Given the description of an element on the screen output the (x, y) to click on. 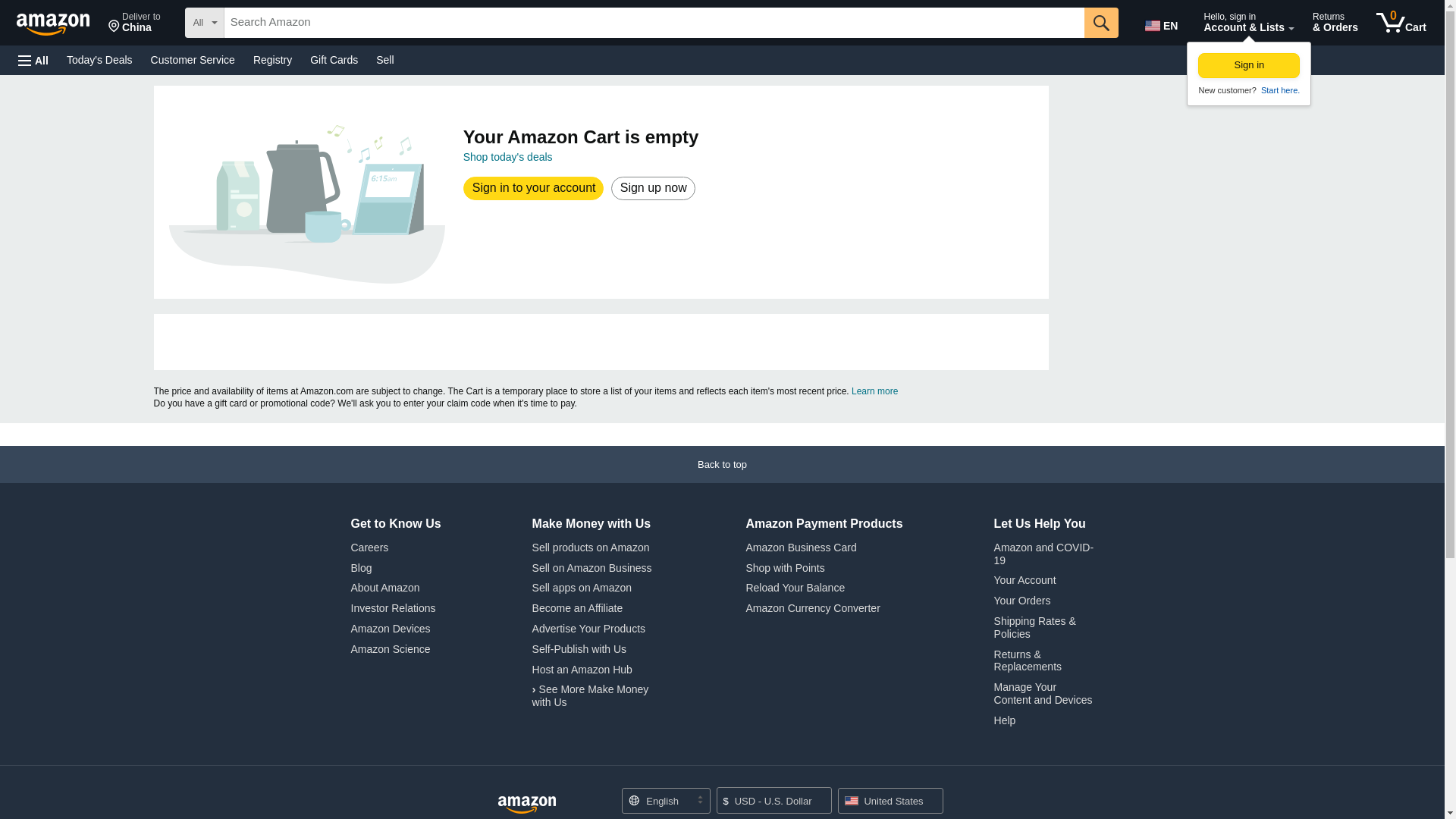
Sign in (1249, 65)
Shop today's deals (508, 156)
Gift Cards (333, 59)
EN (1401, 22)
Today's Deals (1163, 22)
Sign in to your account (134, 22)
Skip to main content (99, 59)
